Given the description of an element on the screen output the (x, y) to click on. 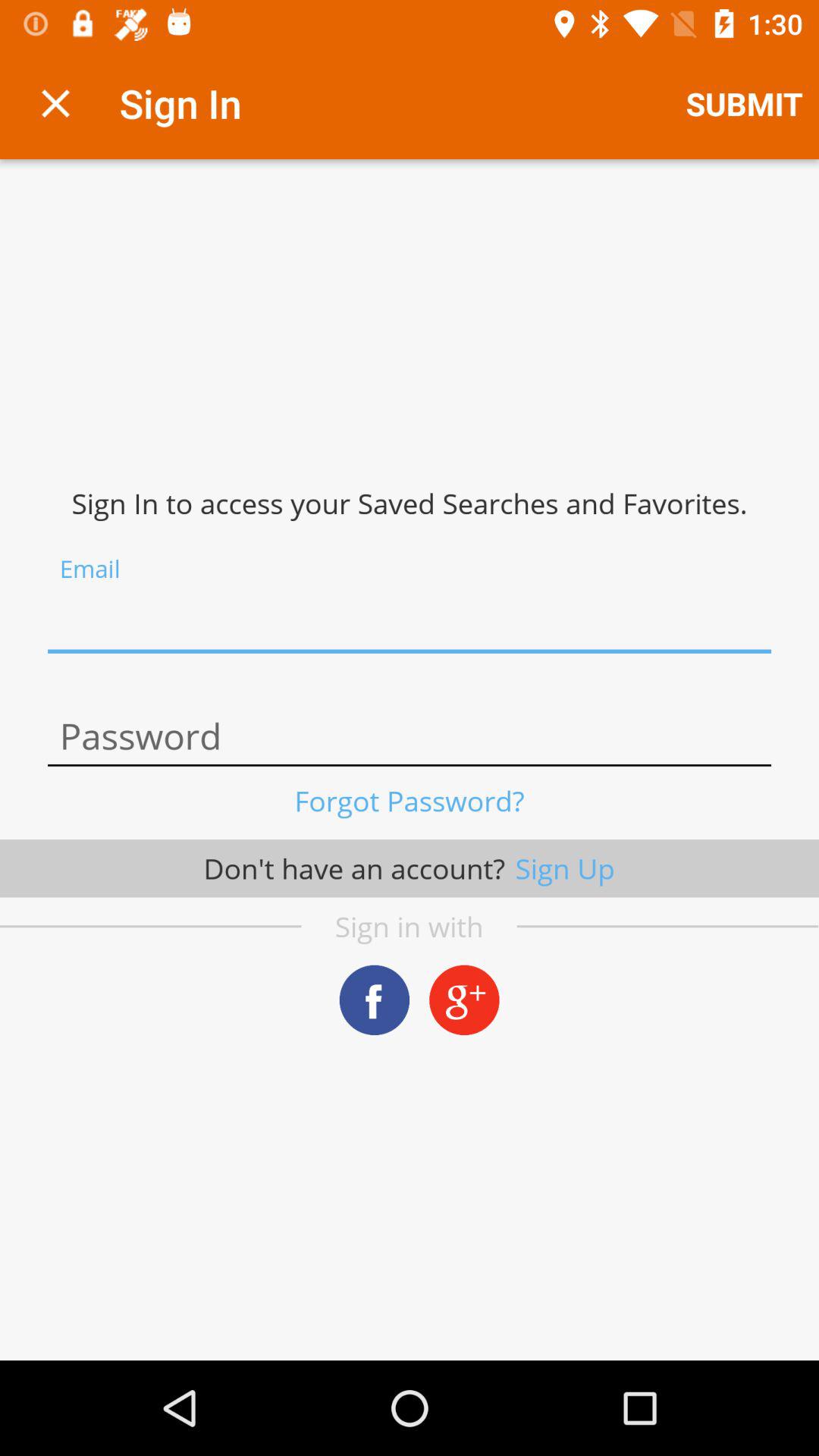
exit sign in (55, 103)
